Given the description of an element on the screen output the (x, y) to click on. 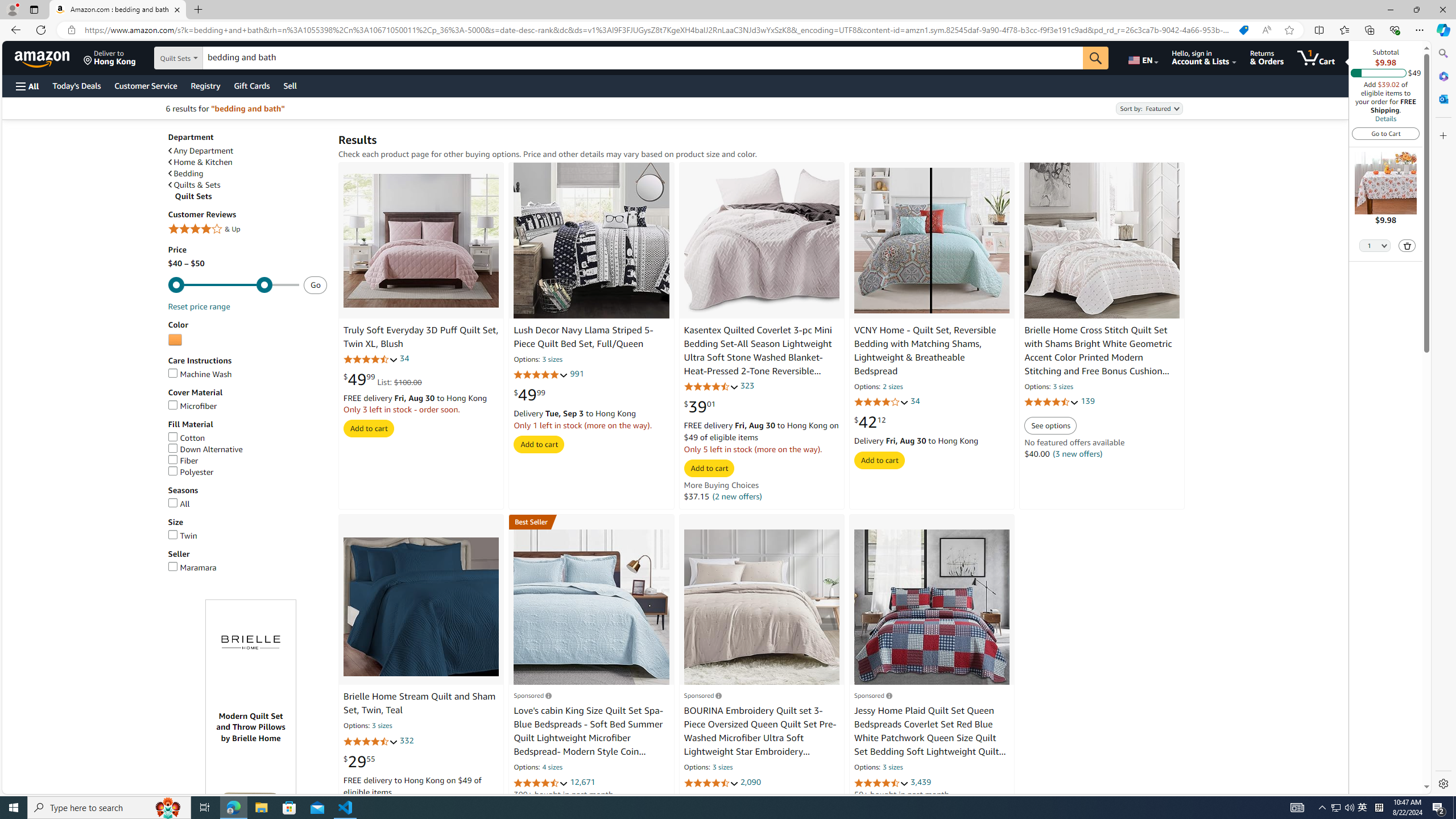
Bedding (247, 173)
4 Stars & Up& Up (247, 229)
Quantity Selector (1374, 245)
Any Department (200, 150)
Details (1385, 118)
All (178, 503)
2 sizes (892, 387)
